Given the description of an element on the screen output the (x, y) to click on. 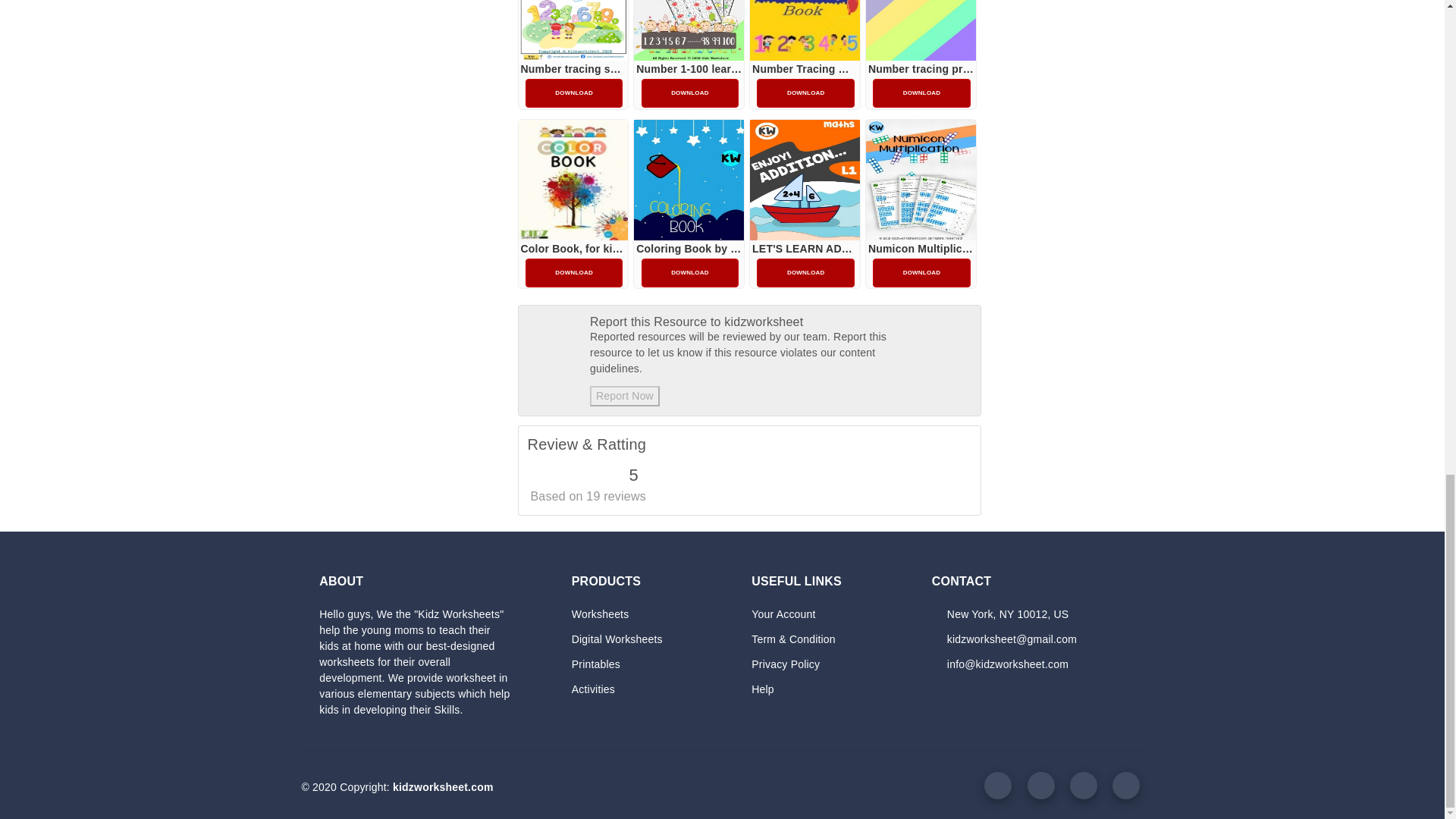
DOWNLOAD (574, 92)
